Given the description of an element on the screen output the (x, y) to click on. 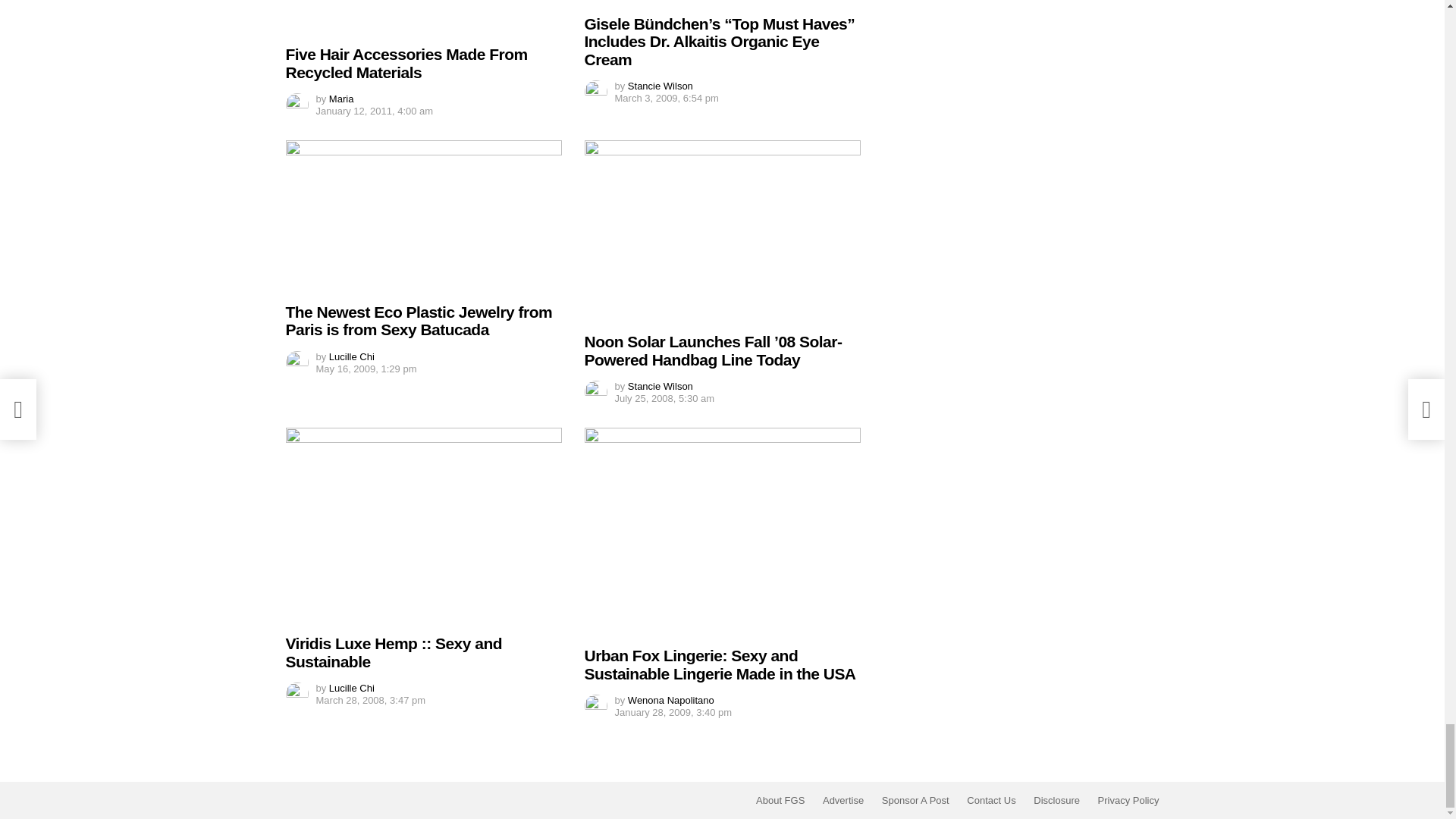
Posts by Stancie Wilson (660, 85)
Posts by Maria (341, 98)
Posts by Stancie Wilson (660, 386)
Posts by Lucille Chi (351, 356)
Posts by Wenona Napolitano (670, 699)
Posts by Lucille Chi (351, 687)
